Given the description of an element on the screen output the (x, y) to click on. 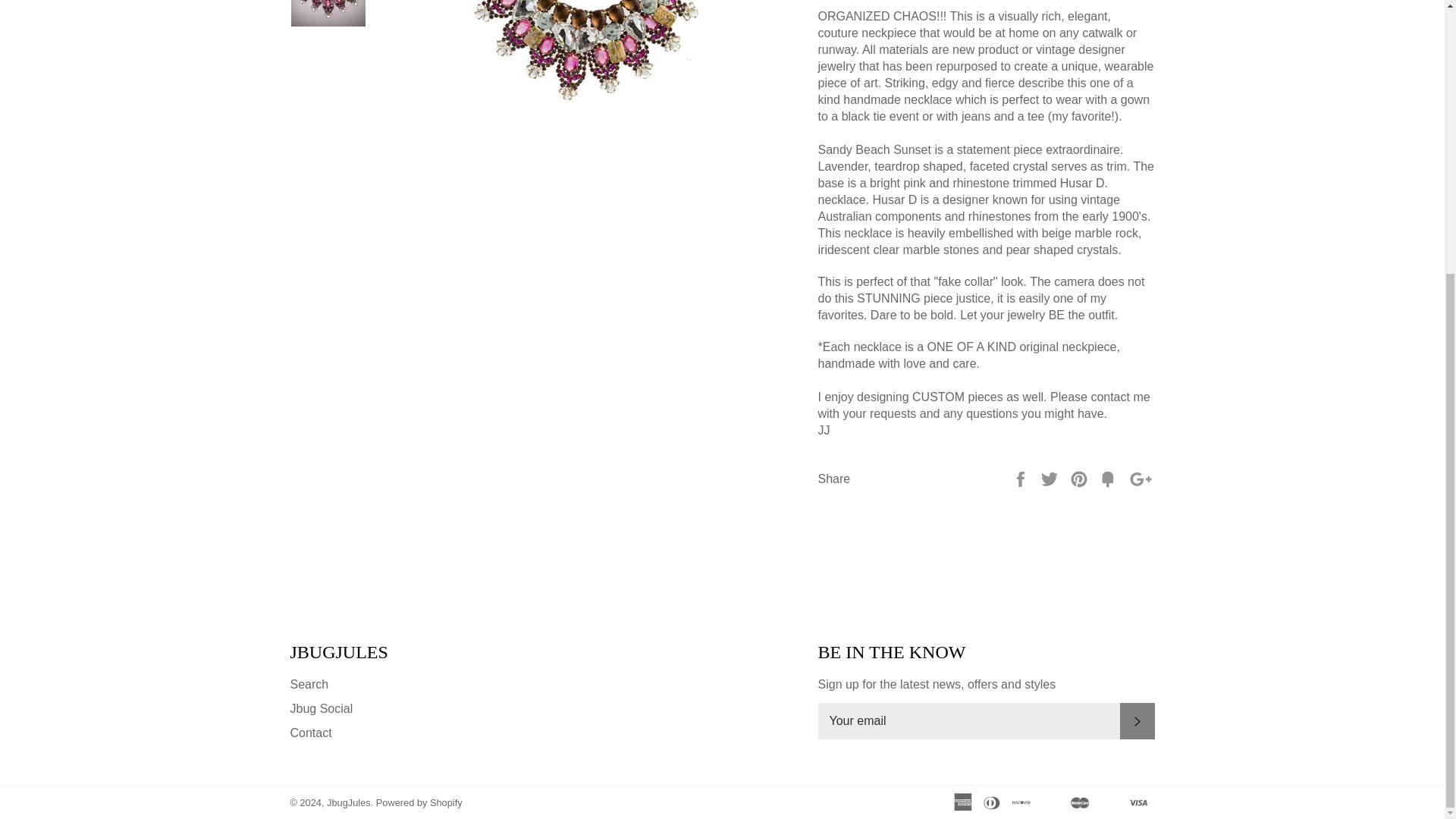
JbugJules (348, 802)
Fancy (1109, 477)
Contact (310, 732)
Pin it (1080, 477)
Search (309, 684)
Share (1021, 477)
Tweet (1051, 477)
Jbug Social (320, 707)
Subscribe (1136, 720)
